Given the description of an element on the screen output the (x, y) to click on. 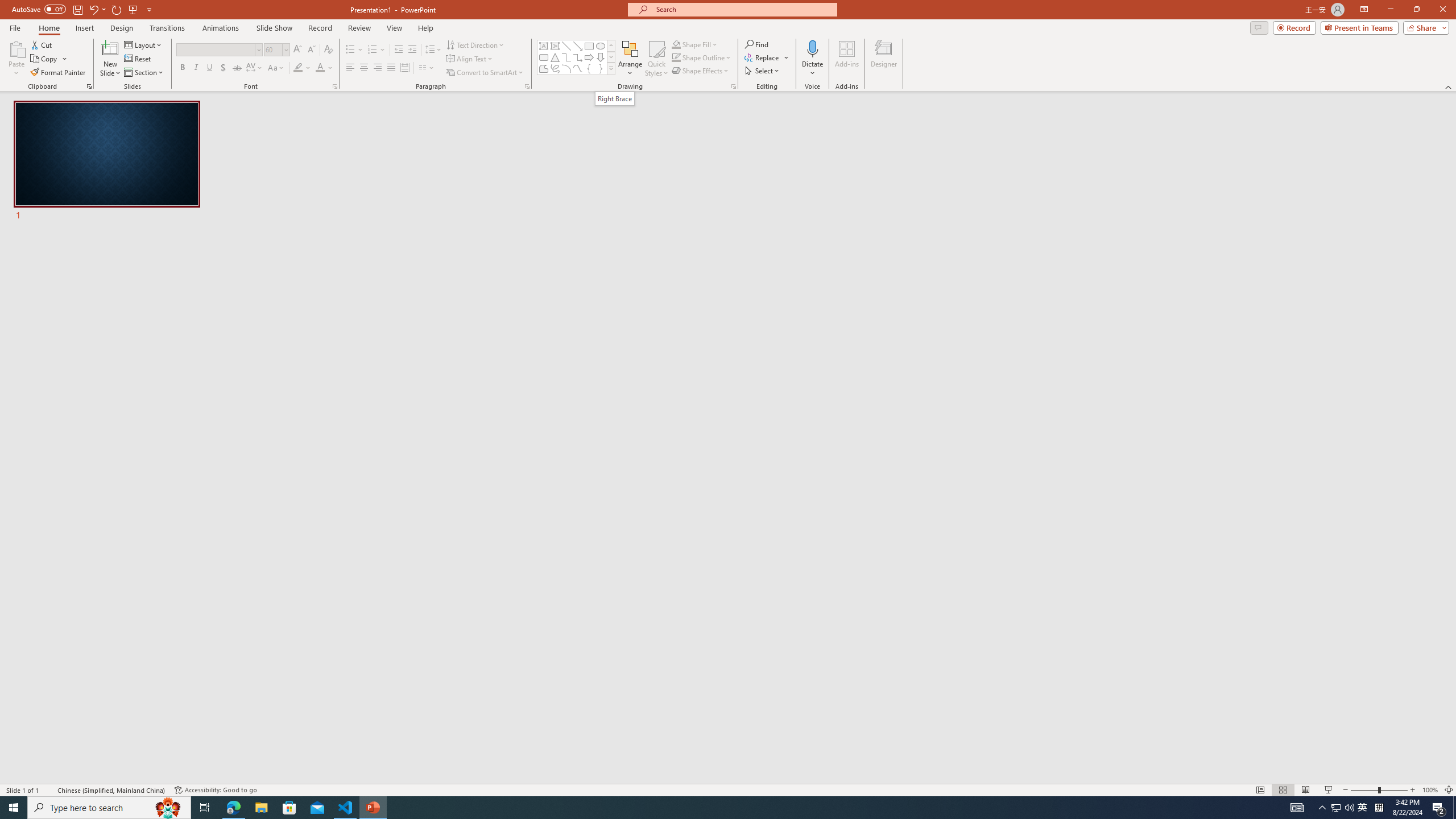
Layout (143, 44)
Reset (138, 58)
